Given the description of an element on the screen output the (x, y) to click on. 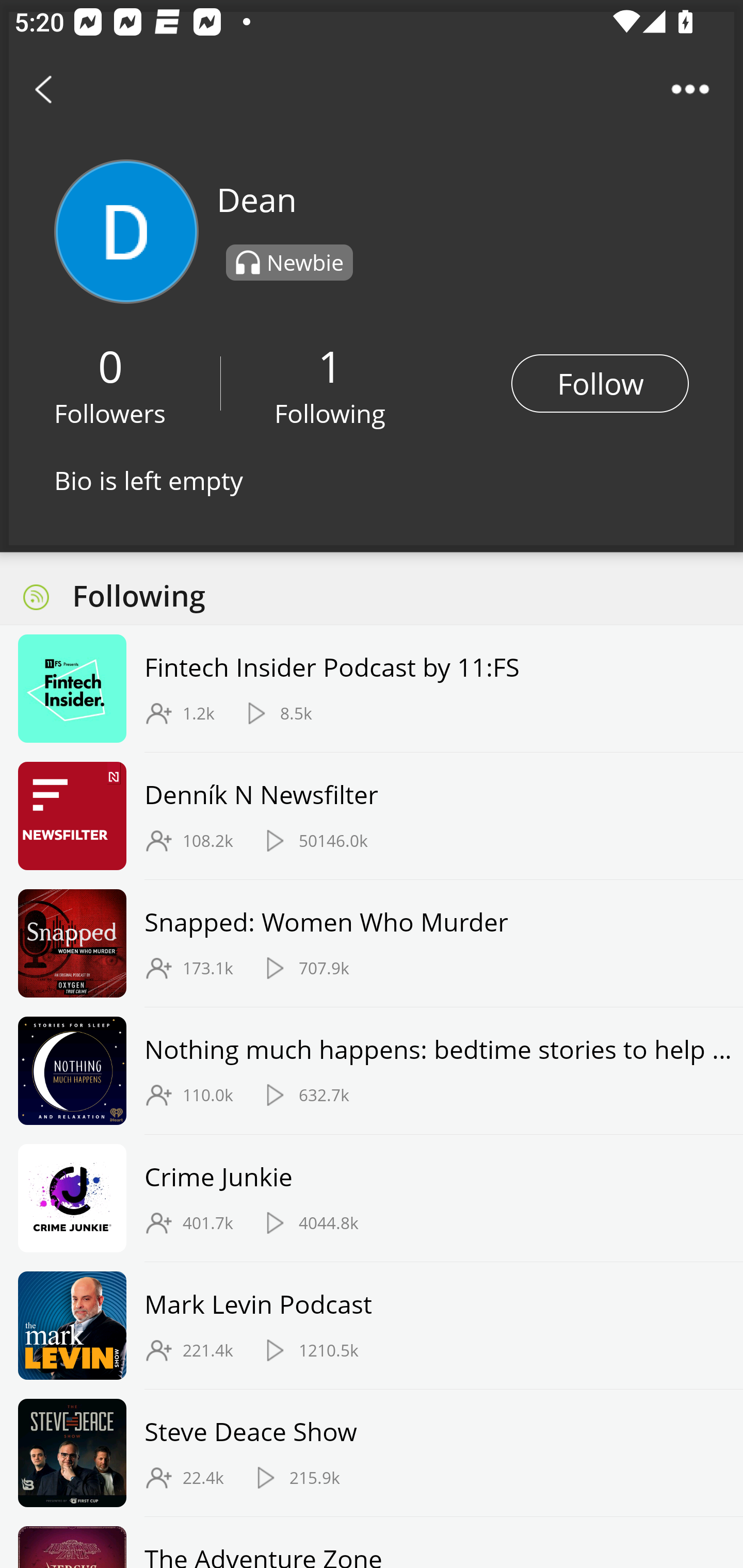
0 (110, 365)
1 (330, 365)
Follow (599, 383)
Followers (110, 413)
Following (329, 413)
Fintech Insider Podcast by 11:FS 1.2k 8.5k (371, 688)
Denník N Newsfilter 108.2k 50146.0k (371, 815)
Snapped: Women Who Murder 173.1k 707.9k (371, 942)
Crime Junkie 401.7k 4044.8k (371, 1198)
Mark Levin Podcast 221.4k 1210.5k (371, 1325)
Steve Deace Show 22.4k 215.9k (371, 1452)
